Given the description of an element on the screen output the (x, y) to click on. 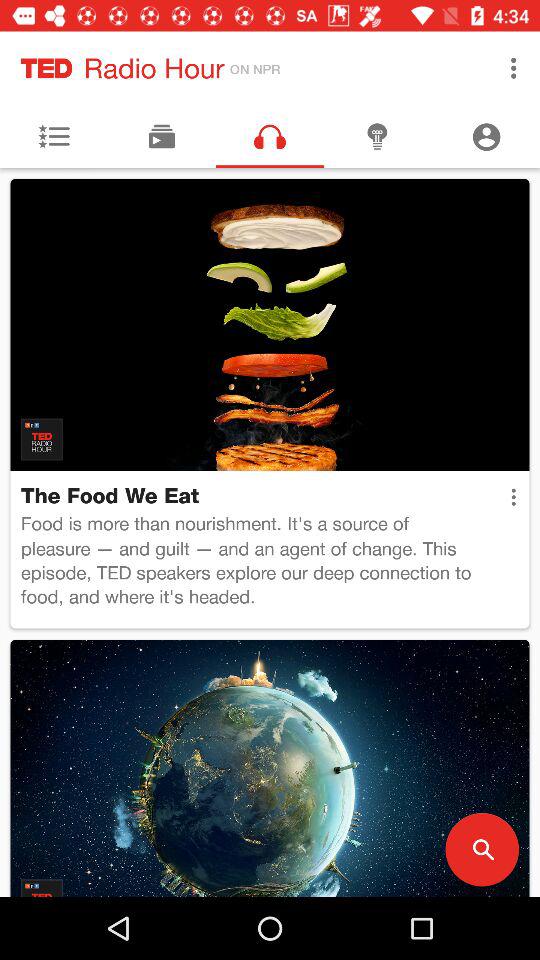
tap item next to the on npr item (513, 67)
